Given the description of an element on the screen output the (x, y) to click on. 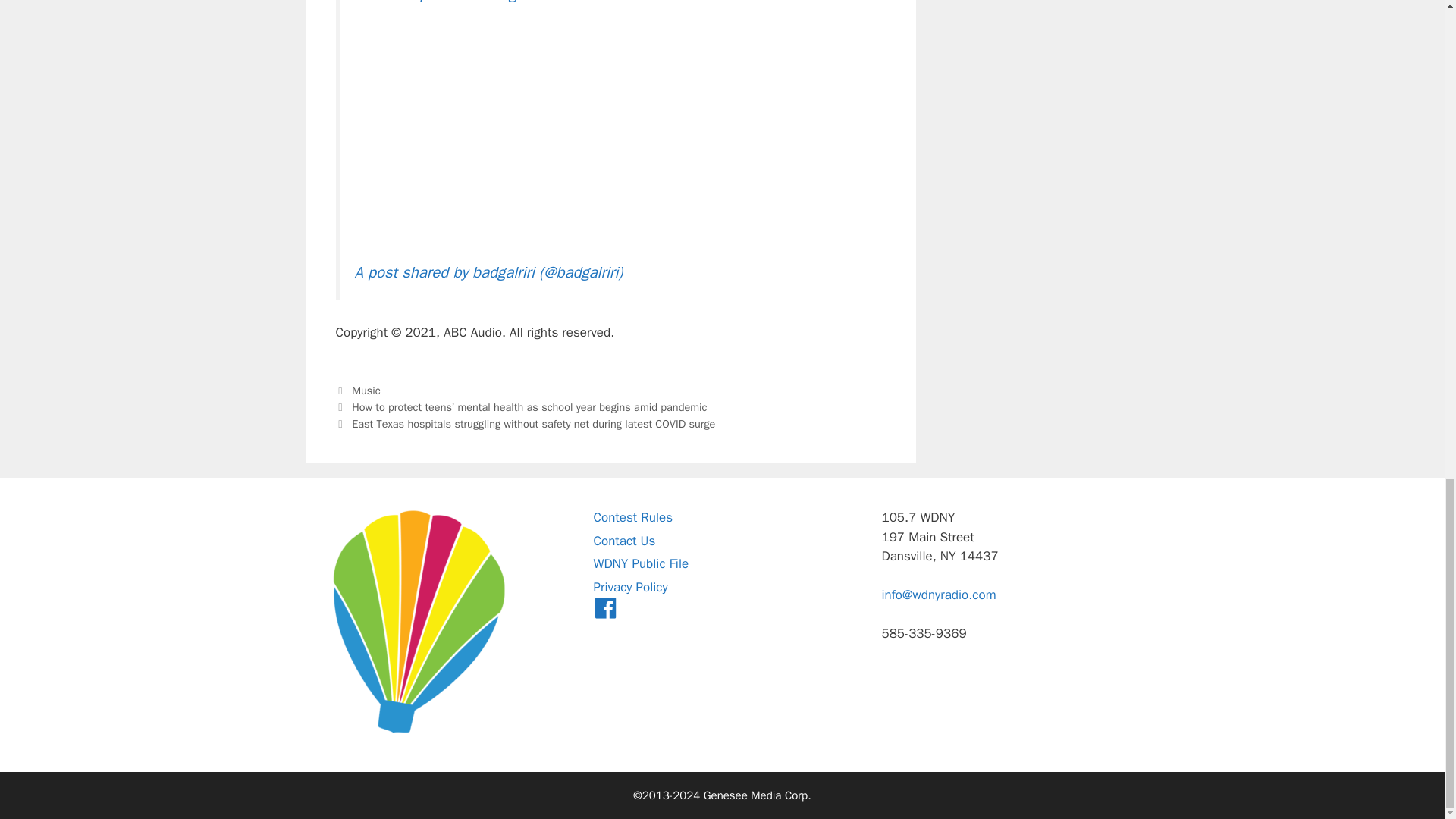
Music (366, 390)
Menu Item (605, 609)
Contact Us (623, 540)
WDNY Public File (640, 563)
View this post on Instagram (449, 2)
Privacy Policy (629, 587)
Contest Rules (632, 517)
